Given the description of an element on the screen output the (x, y) to click on. 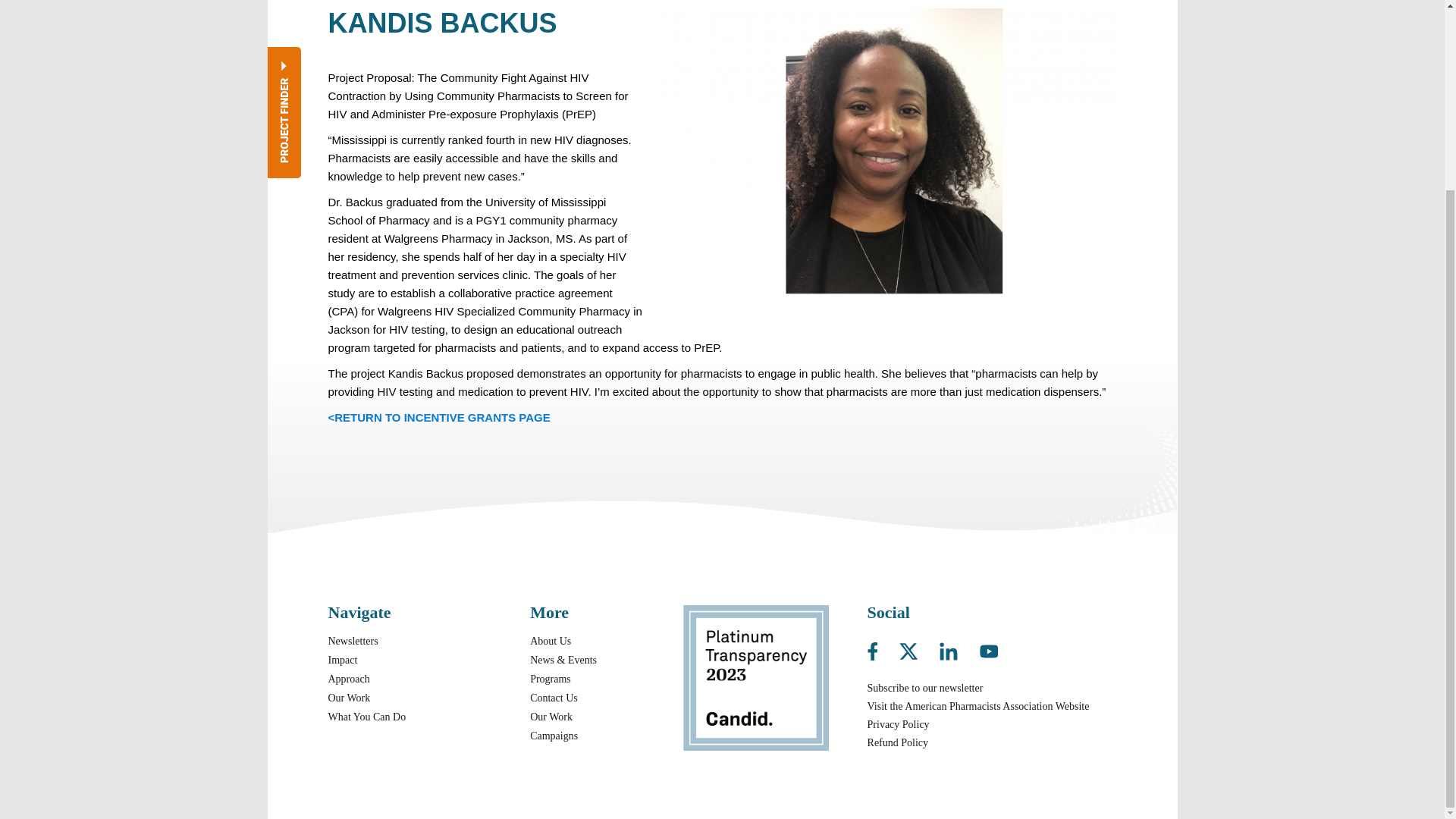
Programs (549, 678)
Twitter (917, 647)
Impact (341, 659)
Approach (348, 678)
Newsletters (352, 641)
Our Work (348, 697)
LinkedIn (957, 647)
Facebook (881, 647)
Approach (348, 678)
Newsletters (352, 641)
About Us (549, 641)
What You Can Do (366, 716)
What You Can Do (366, 716)
YouTube (988, 647)
Contact Us (553, 697)
